Given the description of an element on the screen output the (x, y) to click on. 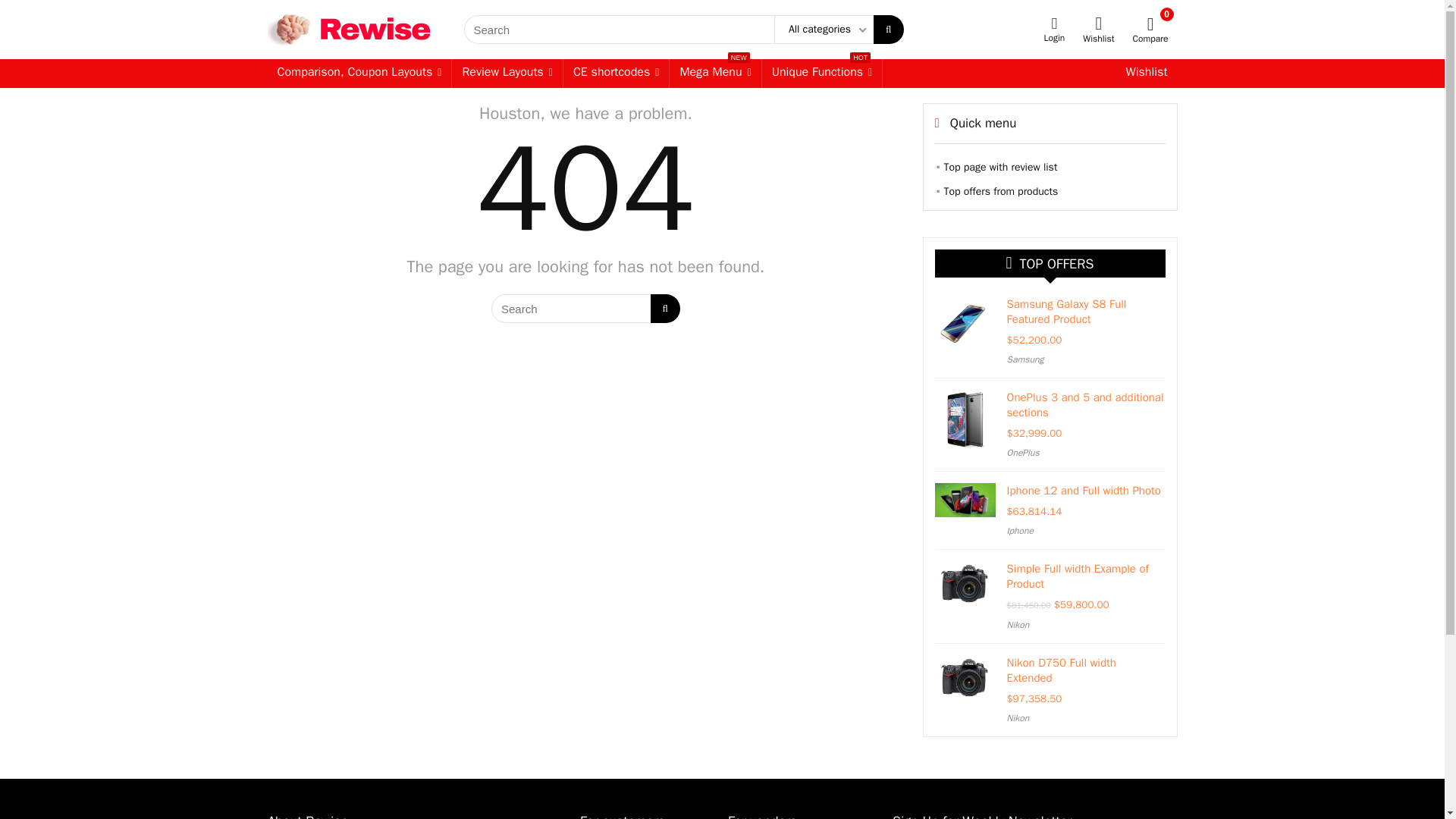
Review Layouts (821, 72)
CE shortcodes (714, 72)
Comparison, Coupon Layouts (506, 72)
